Given the description of an element on the screen output the (x, y) to click on. 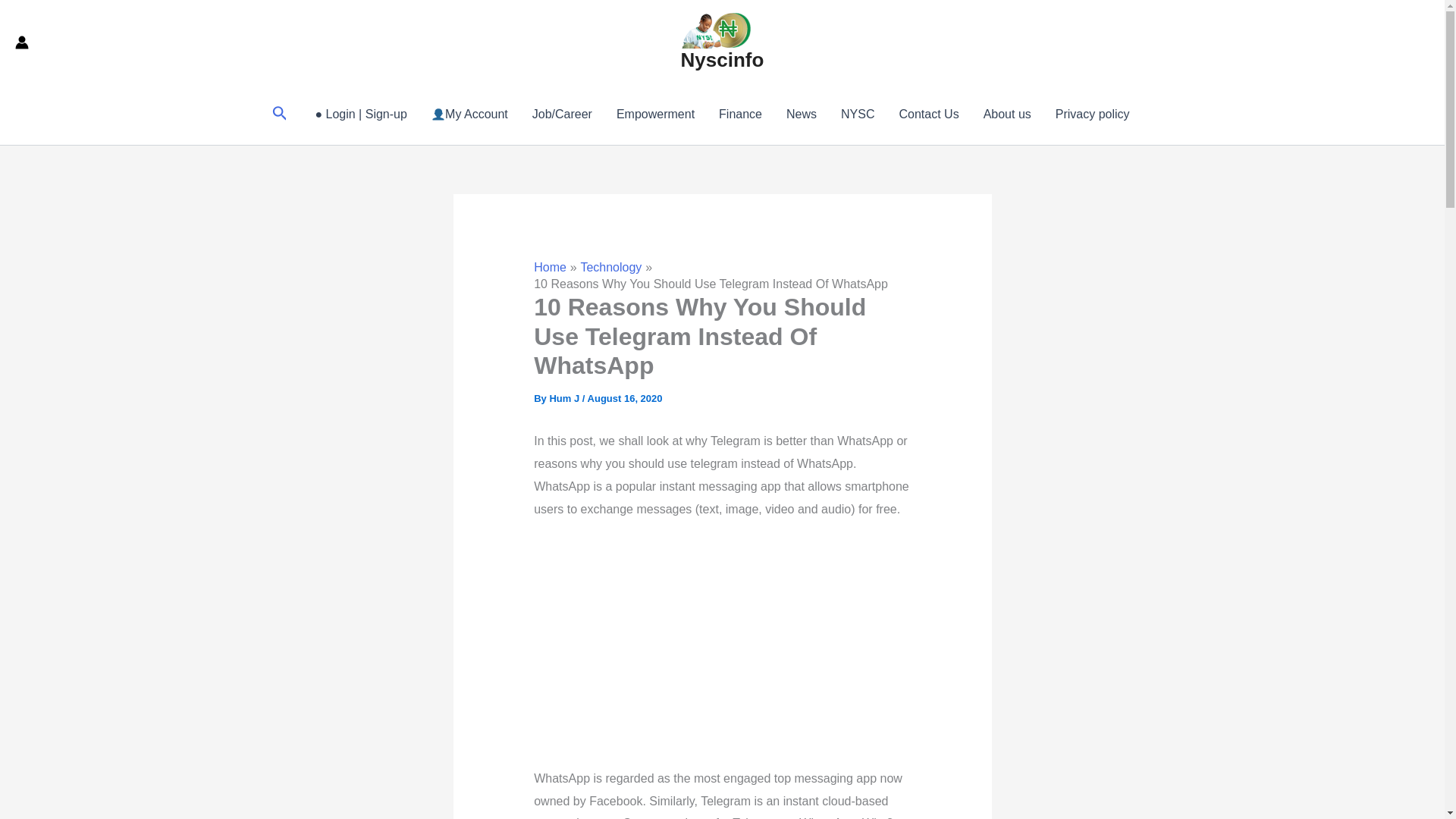
View all posts by Hum J (564, 398)
Finance (740, 114)
Technology (610, 267)
Empowerment (655, 114)
News (801, 114)
Hum J (564, 398)
Advertisement (772, 645)
Readability may be enhanced by removing this (592, 463)
About us (1007, 114)
Home (550, 267)
NYSC (857, 114)
Contact Us (928, 114)
Privacy policy (1092, 114)
Nyscinfo (722, 59)
My Account (469, 114)
